Given the description of an element on the screen output the (x, y) to click on. 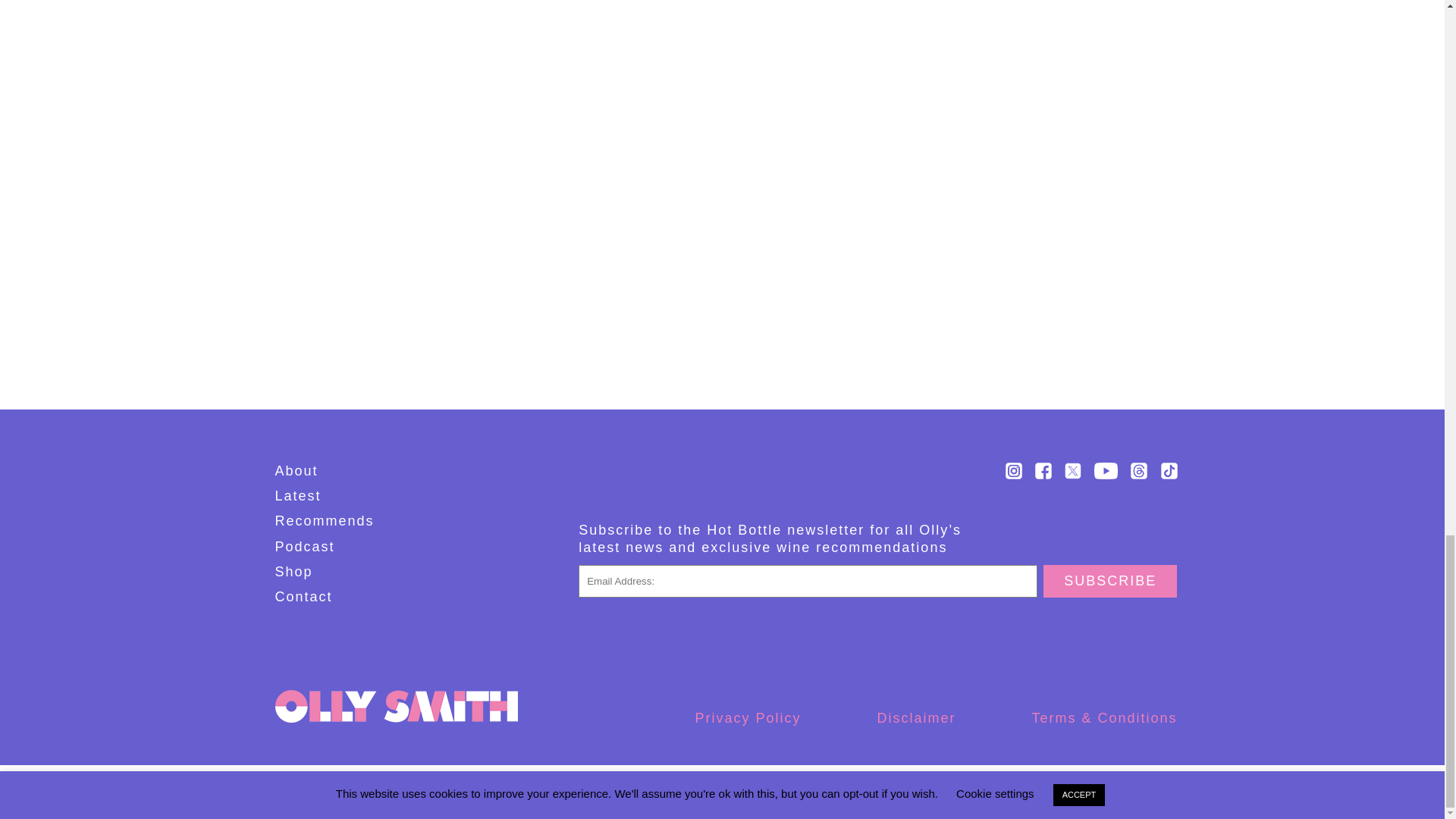
Shop (294, 571)
Contact (303, 596)
About (296, 470)
Subscribe (866, 387)
Recommends (324, 520)
Latest (297, 495)
Podcast (304, 546)
Subscribe (1109, 581)
